Given the description of an element on the screen output the (x, y) to click on. 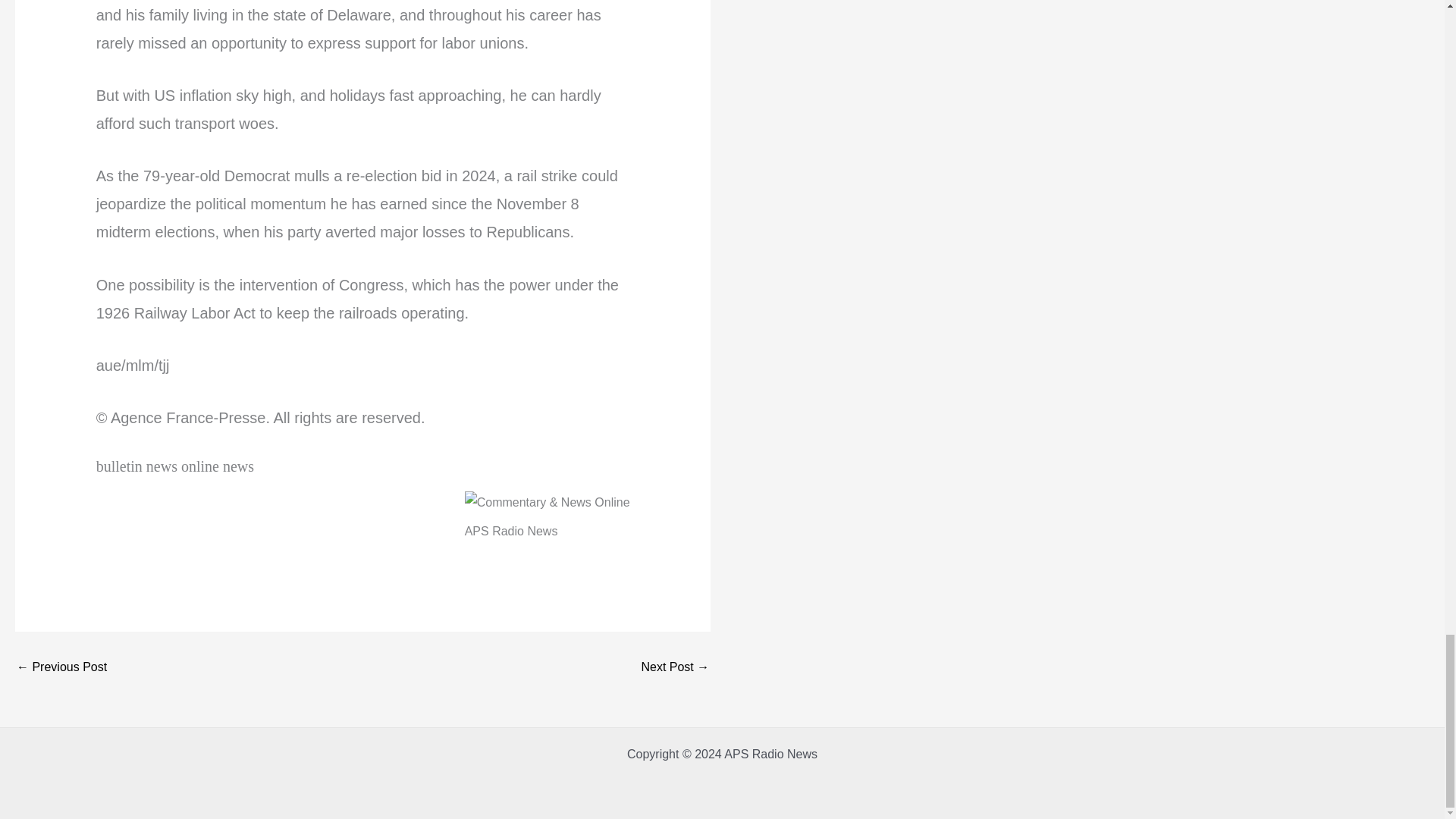
Brazil Election Agency Rejects Bolsonaro Push to Void Votes (61, 666)
